Given the description of an element on the screen output the (x, y) to click on. 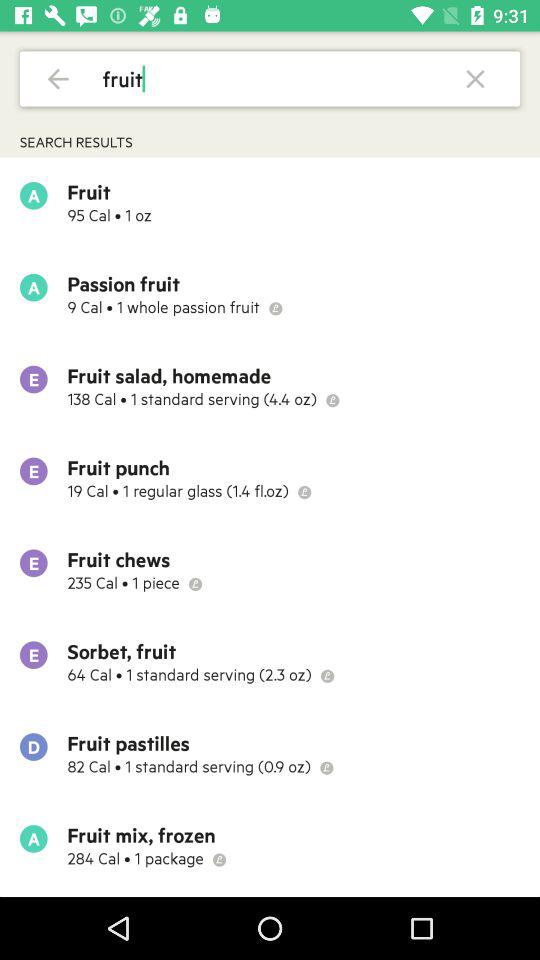
press item to the right of the fruit icon (475, 78)
